Given the description of an element on the screen output the (x, y) to click on. 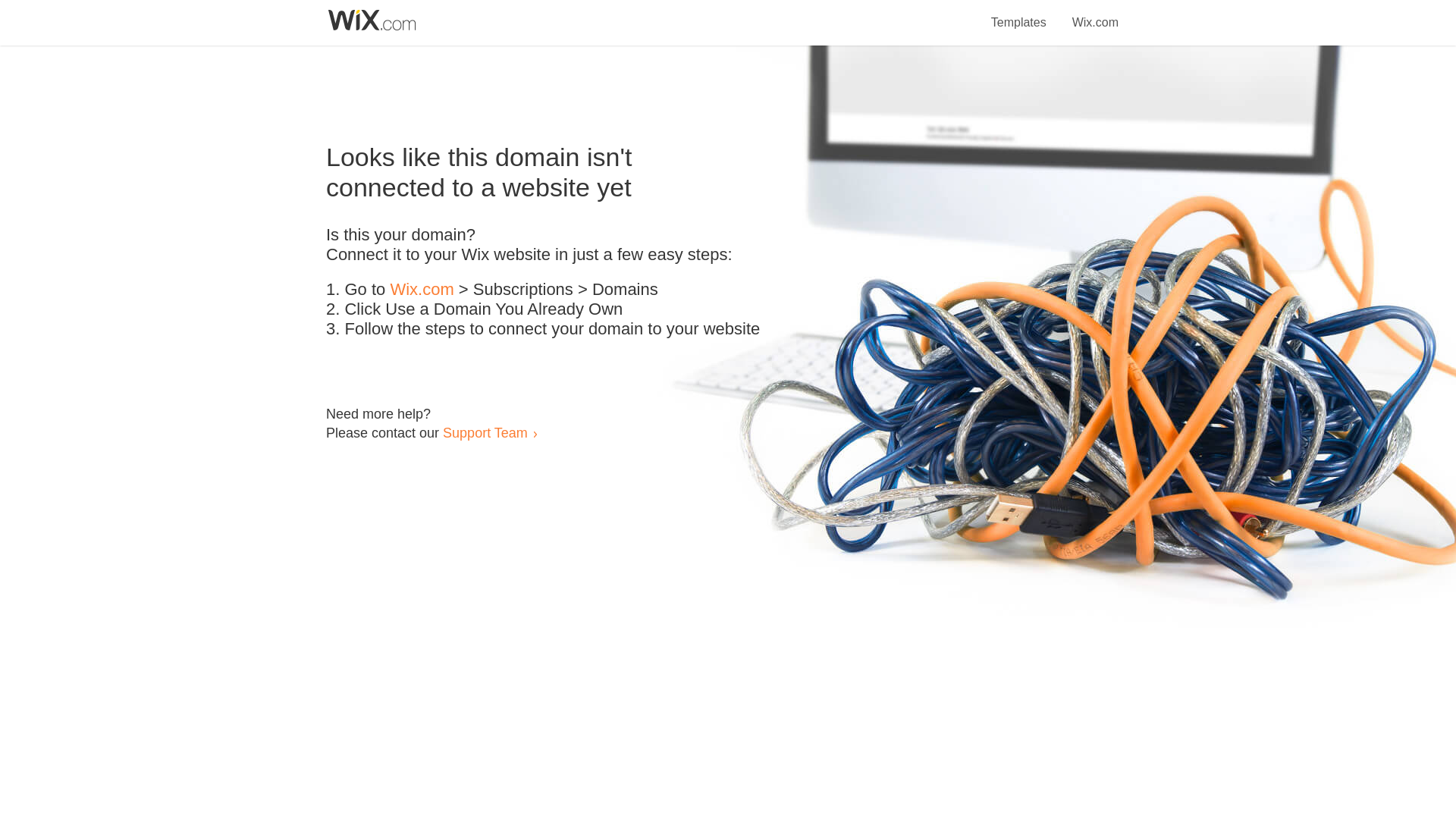
Wix.com (421, 289)
Wix.com (1095, 14)
Templates (1018, 14)
Support Team (484, 432)
